Given the description of an element on the screen output the (x, y) to click on. 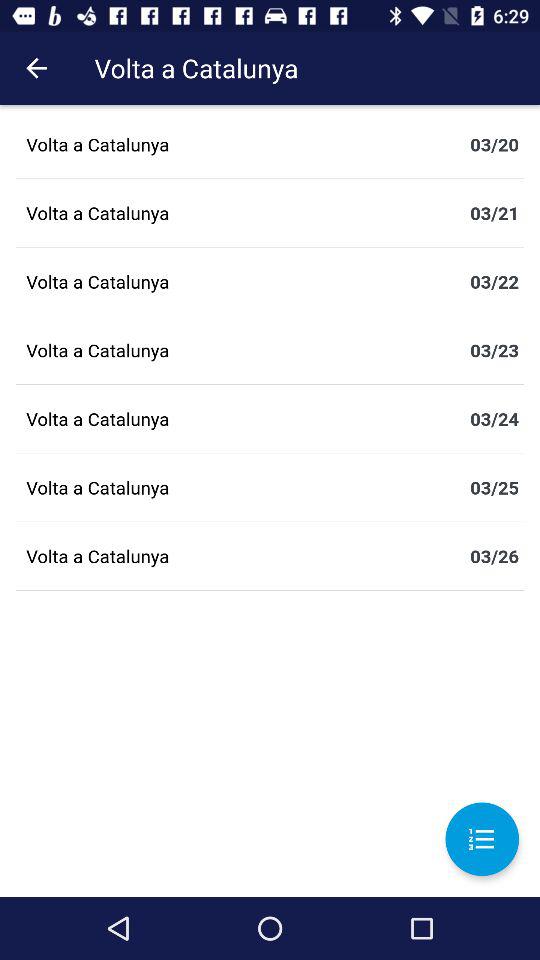
turn off icon to the left of volta a catalunya item (36, 68)
